Given the description of an element on the screen output the (x, y) to click on. 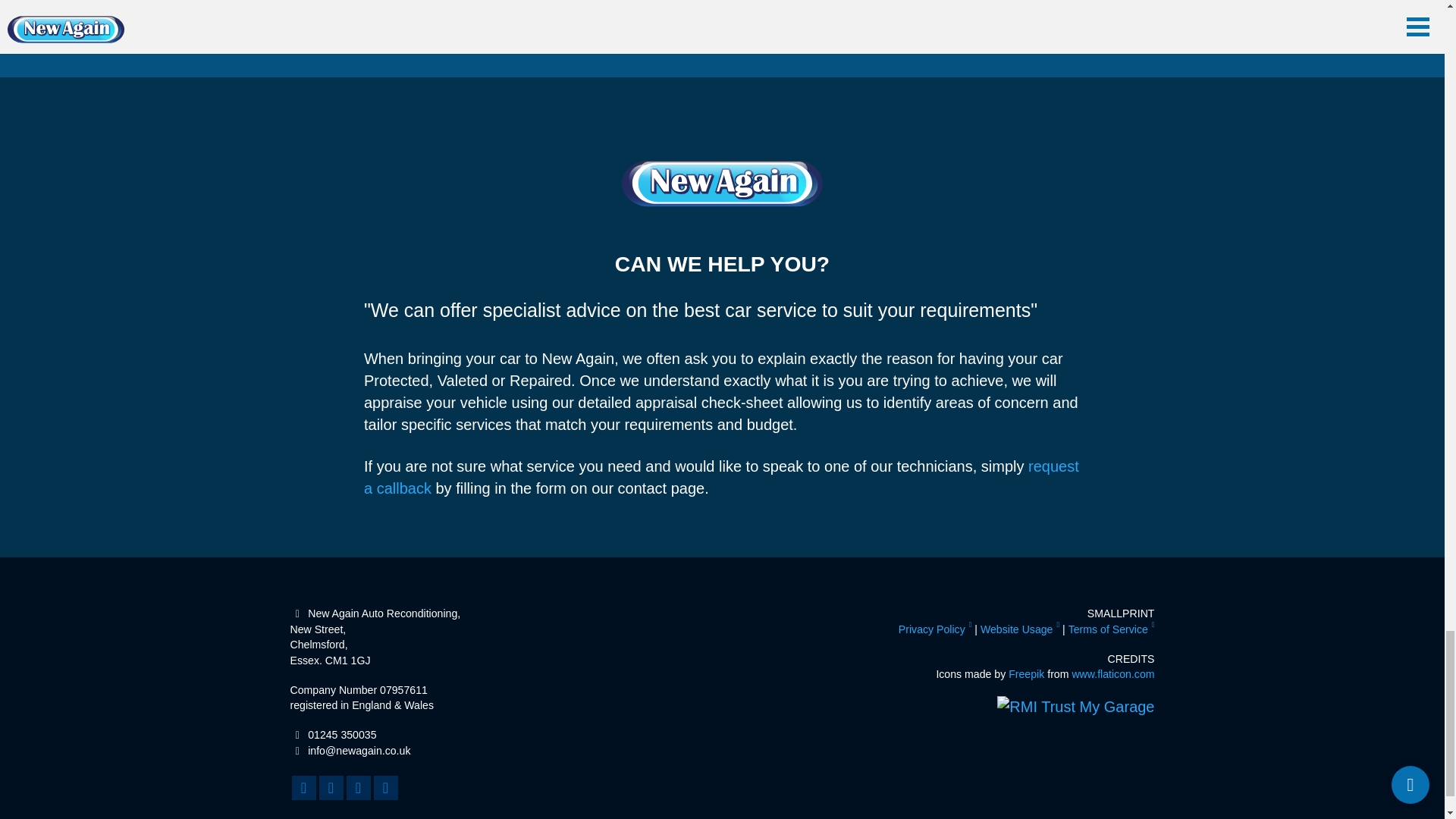
Instagram (330, 787)
Facebook (303, 787)
YouTube (357, 787)
Twitter (384, 787)
